Given the description of an element on the screen output the (x, y) to click on. 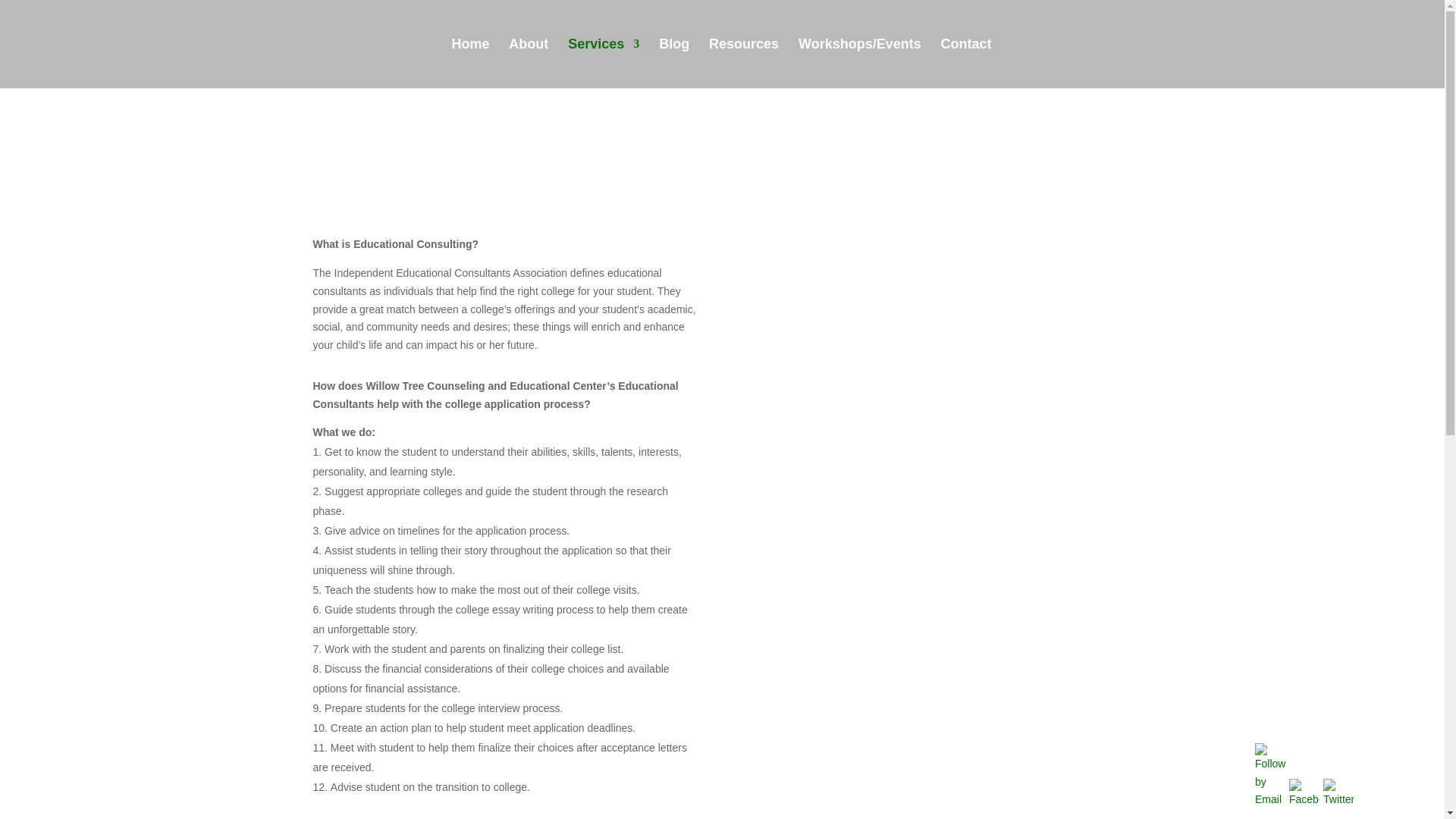
Twitter (1338, 793)
Services (603, 62)
Contact (965, 62)
Facebook (1303, 793)
Resources (743, 62)
